Given the description of an element on the screen output the (x, y) to click on. 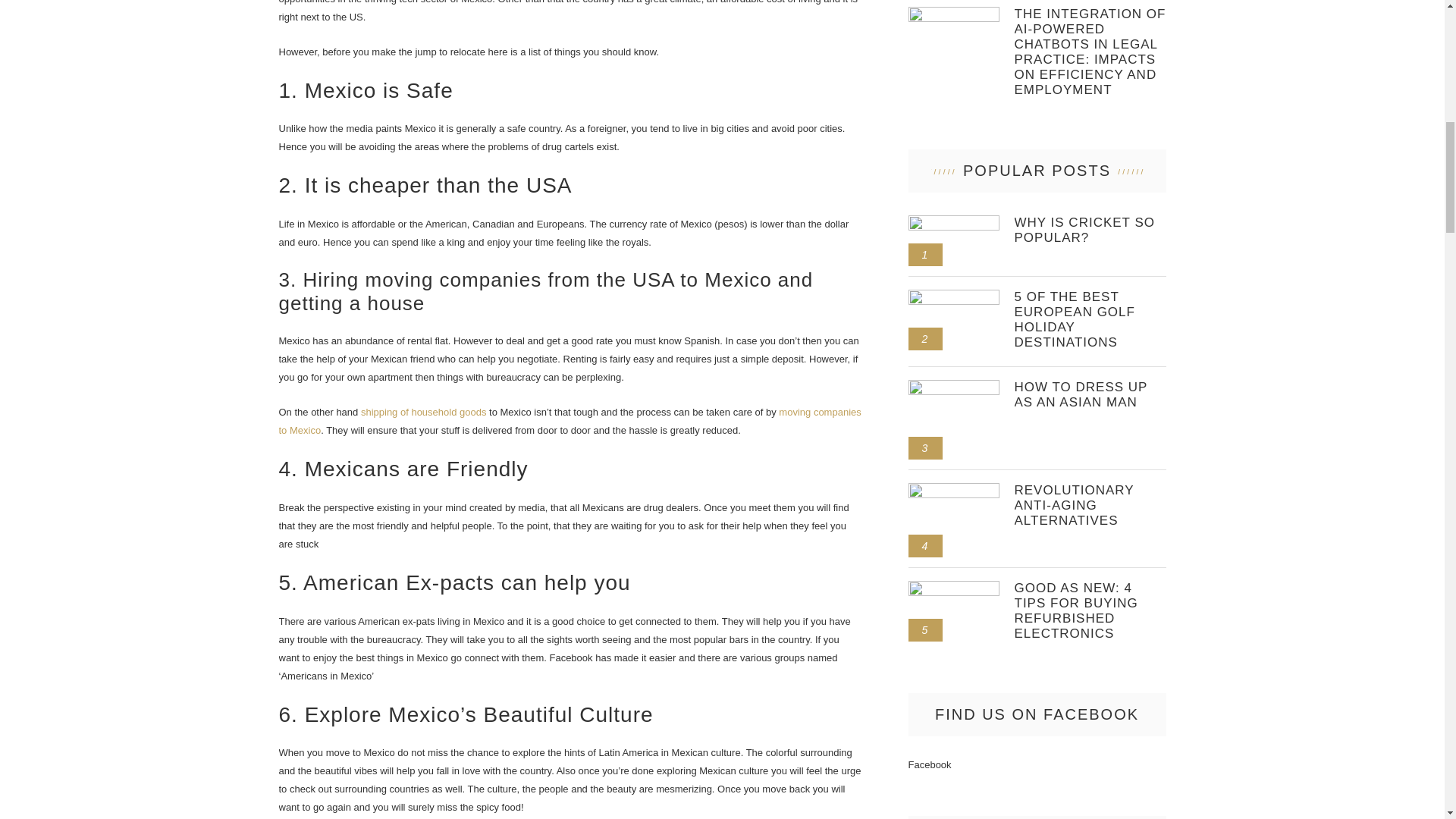
5 of the Best European Golf Holiday Destinations (953, 295)
Why is cricket so popular? (1090, 230)
5 of the Best European Golf Holiday Destinations (1090, 319)
Why is cricket so popular? (953, 221)
